Given the description of an element on the screen output the (x, y) to click on. 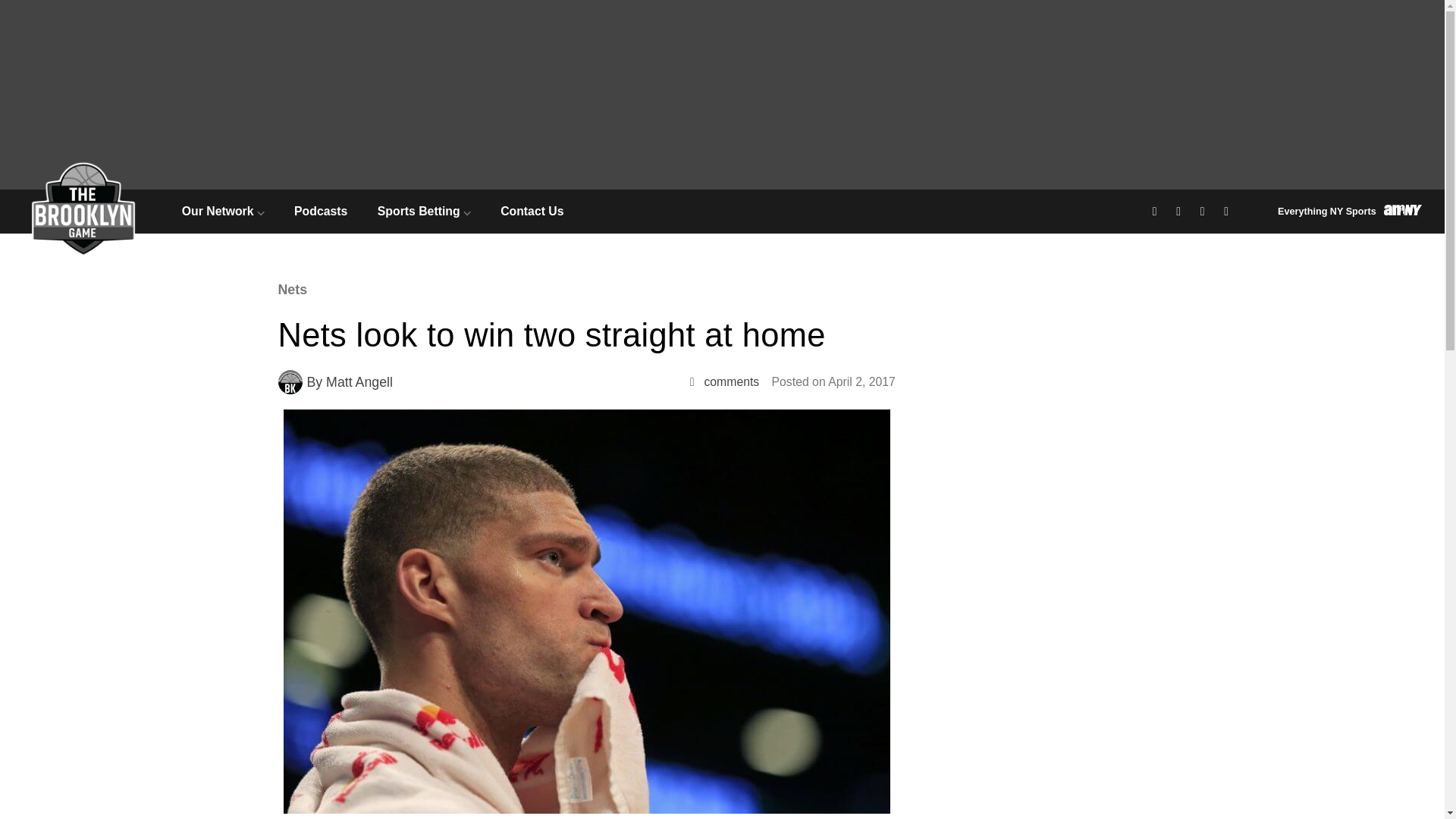
Contact Us (531, 210)
Posts by Matt Angell (359, 381)
Our Network (223, 210)
Podcasts (320, 210)
Sports Betting (423, 210)
Everything NY Sports (1350, 210)
